Given the description of an element on the screen output the (x, y) to click on. 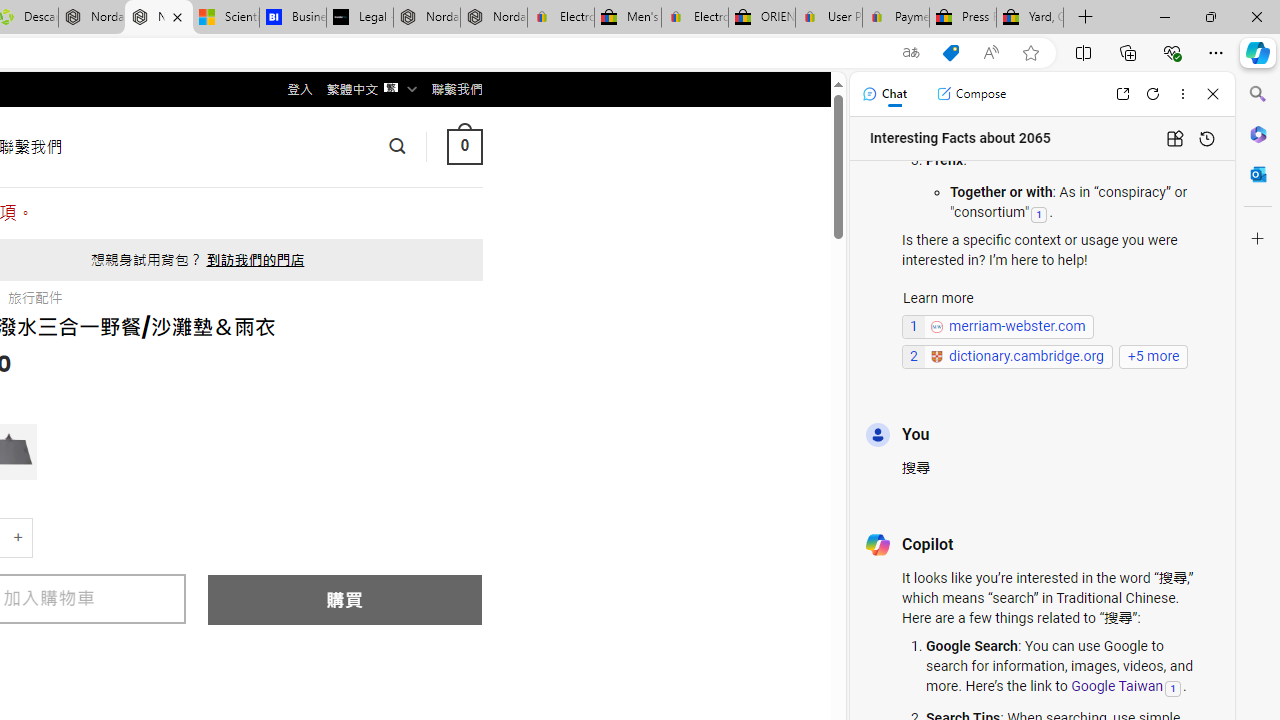
Nordace - Summer Adventures 2024 (91, 17)
This site has coupons! Shopping in Microsoft Edge (950, 53)
+ (19, 537)
